Given the description of an element on the screen output the (x, y) to click on. 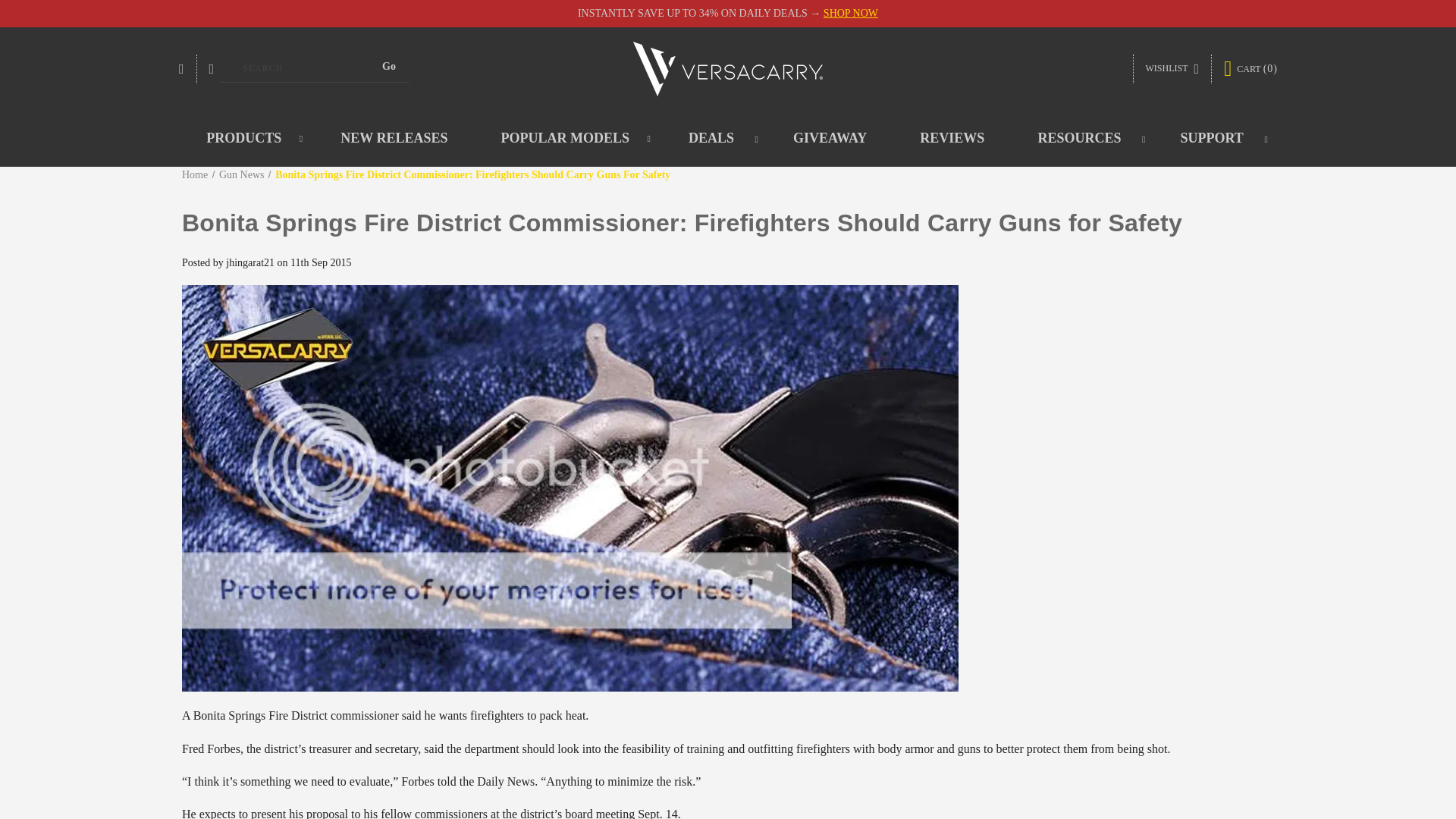
Versacarry (727, 68)
Go (388, 66)
NEW RELEASES (394, 138)
SHOP NOW (850, 12)
PRODUCTS (246, 138)
WISHLIST (1172, 68)
CART 0 (1249, 68)
Go (388, 66)
